Given the description of an element on the screen output the (x, y) to click on. 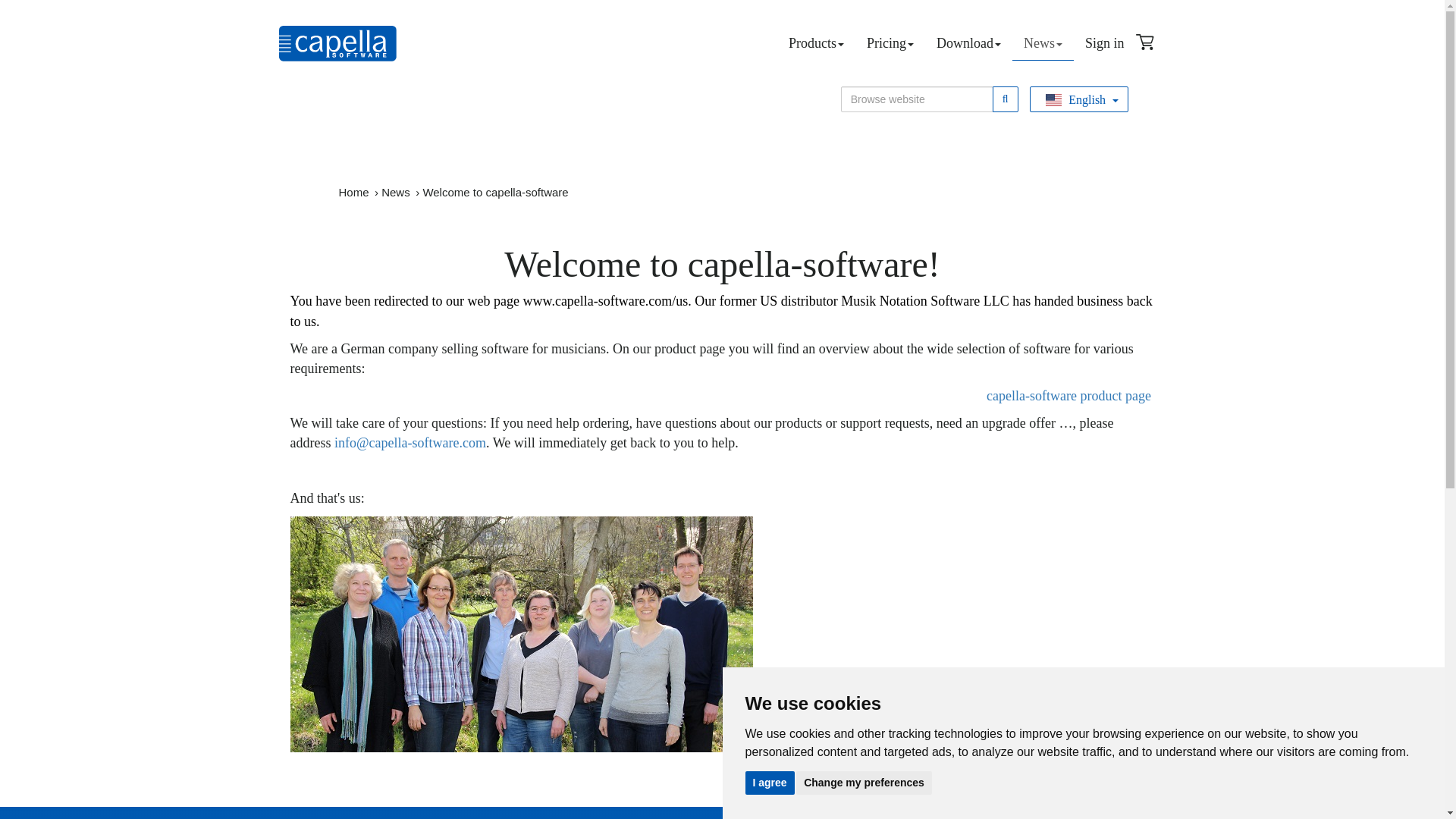
Change my preferences (863, 781)
Products (816, 42)
I agree (768, 781)
